Given the description of an element on the screen output the (x, y) to click on. 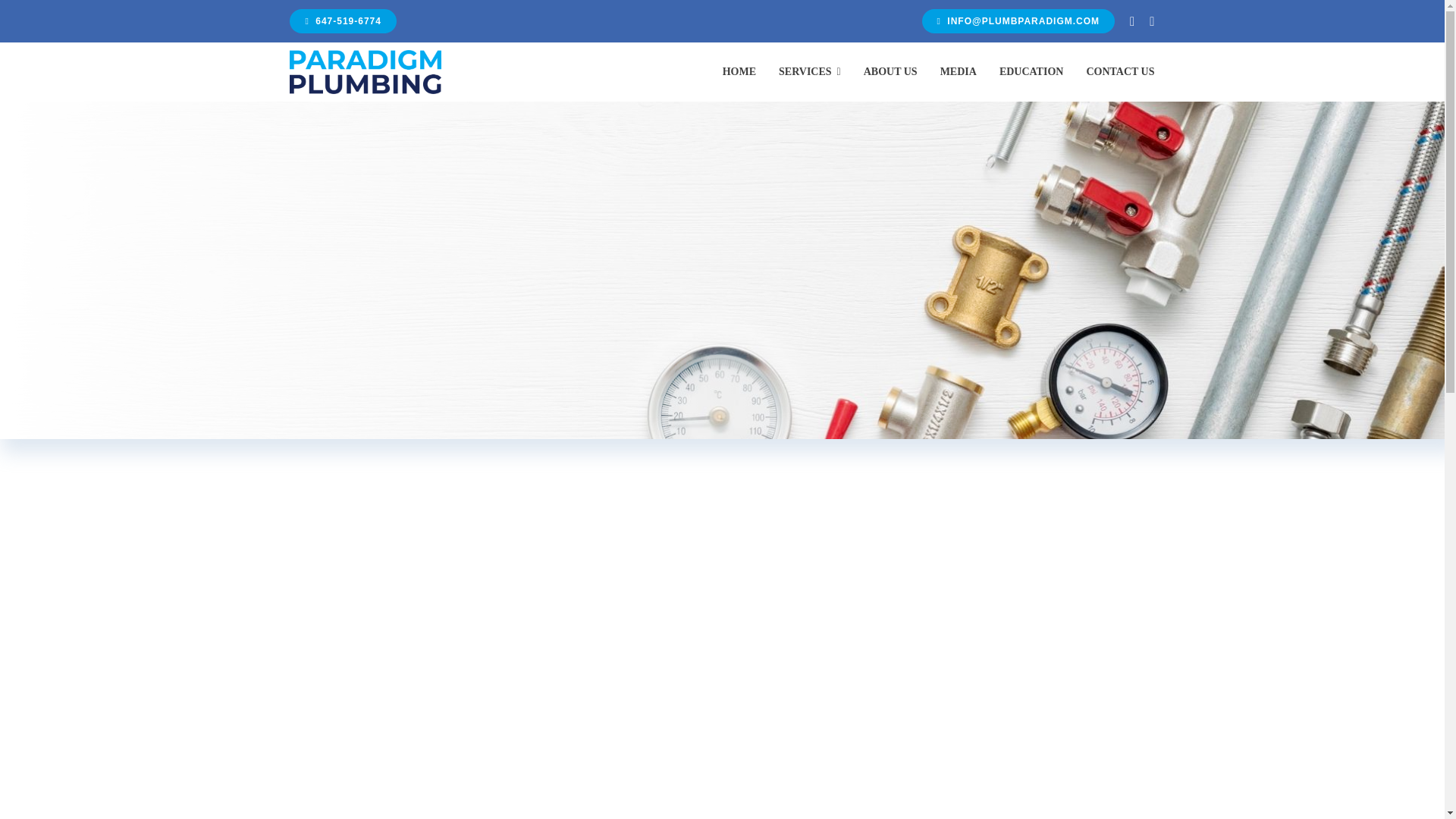
647-519-6774 (342, 21)
CONTACT US (1120, 71)
ABOUT US (890, 71)
SERVICES (809, 71)
EDUCATION (1031, 71)
